Given the description of an element on the screen output the (x, y) to click on. 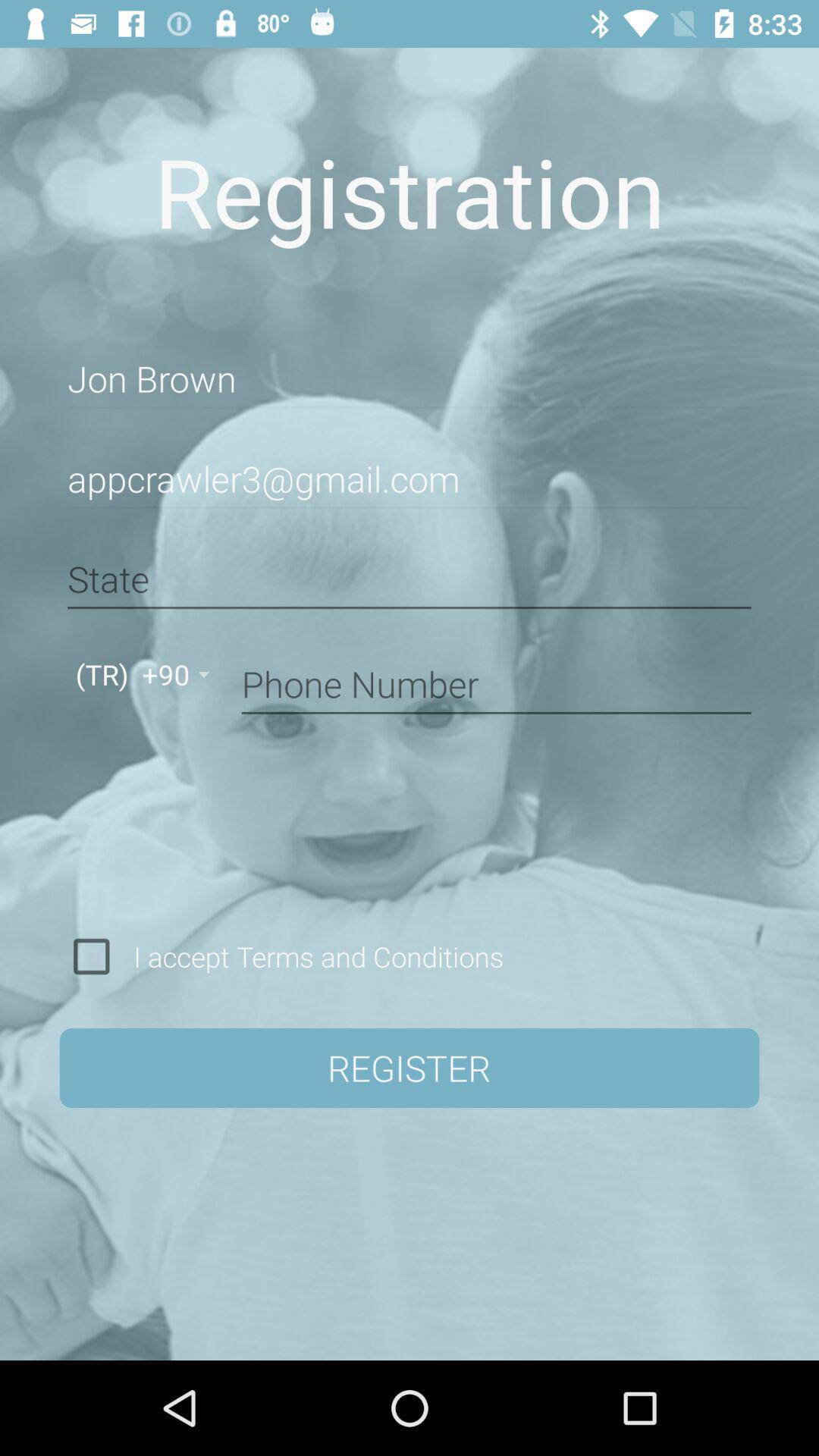
launch item above the i accept terms (496, 681)
